Given the description of an element on the screen output the (x, y) to click on. 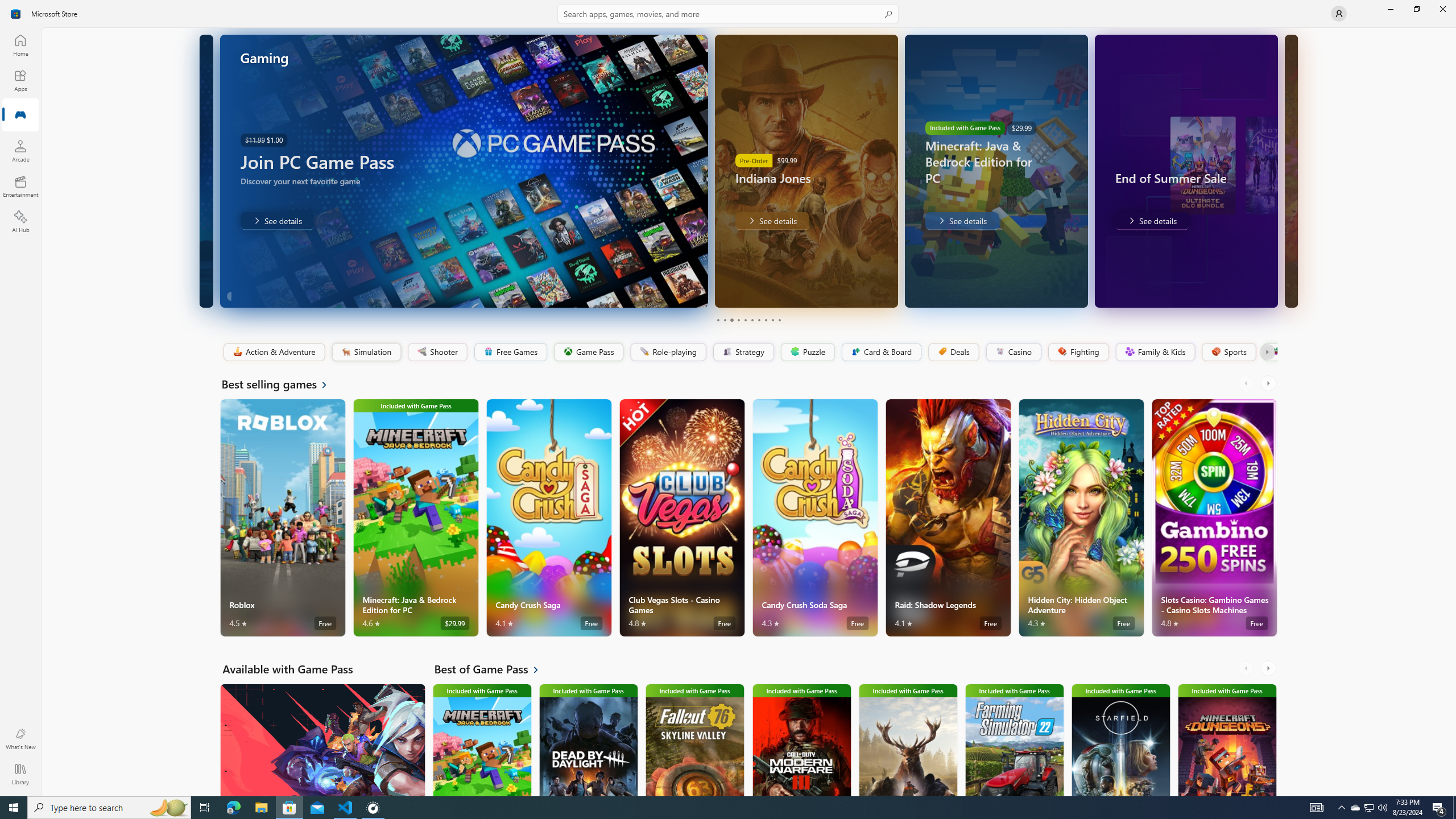
Page 4 (738, 319)
Search (727, 13)
Page 5 (744, 319)
Page 7 (758, 319)
Page 2 (724, 319)
Page 9 (772, 319)
Strategy (742, 352)
Page 3 (731, 319)
